Given the description of an element on the screen output the (x, y) to click on. 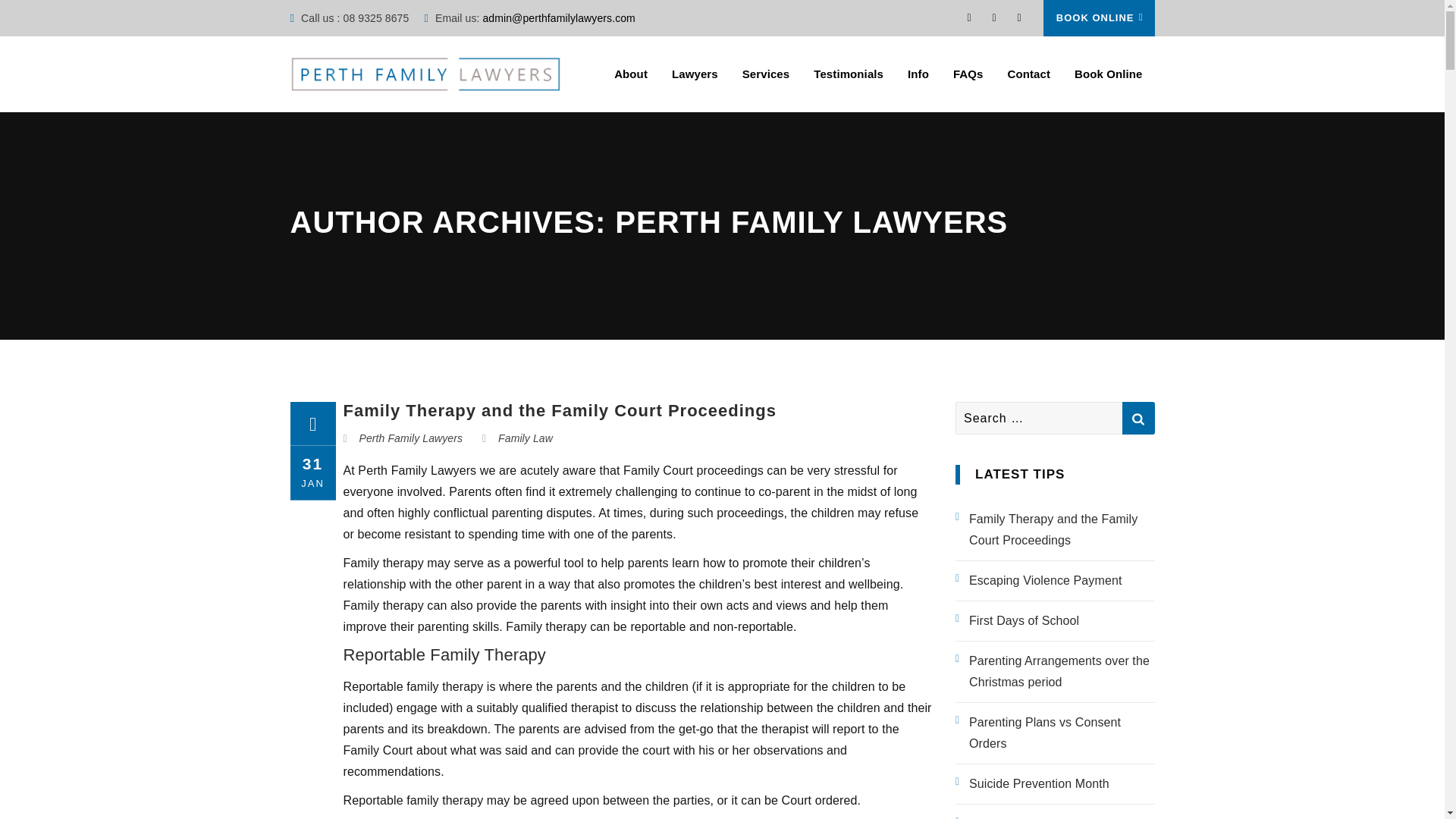
Family Law (525, 438)
Search (1138, 418)
BOOK ONLINE (1098, 18)
View all posts by Perth Family Lawyers (411, 438)
Testimonials (848, 74)
Book Online (1107, 74)
Perth Family Lawyers (424, 74)
Perth Family Lawyers (411, 438)
